Given the description of an element on the screen output the (x, y) to click on. 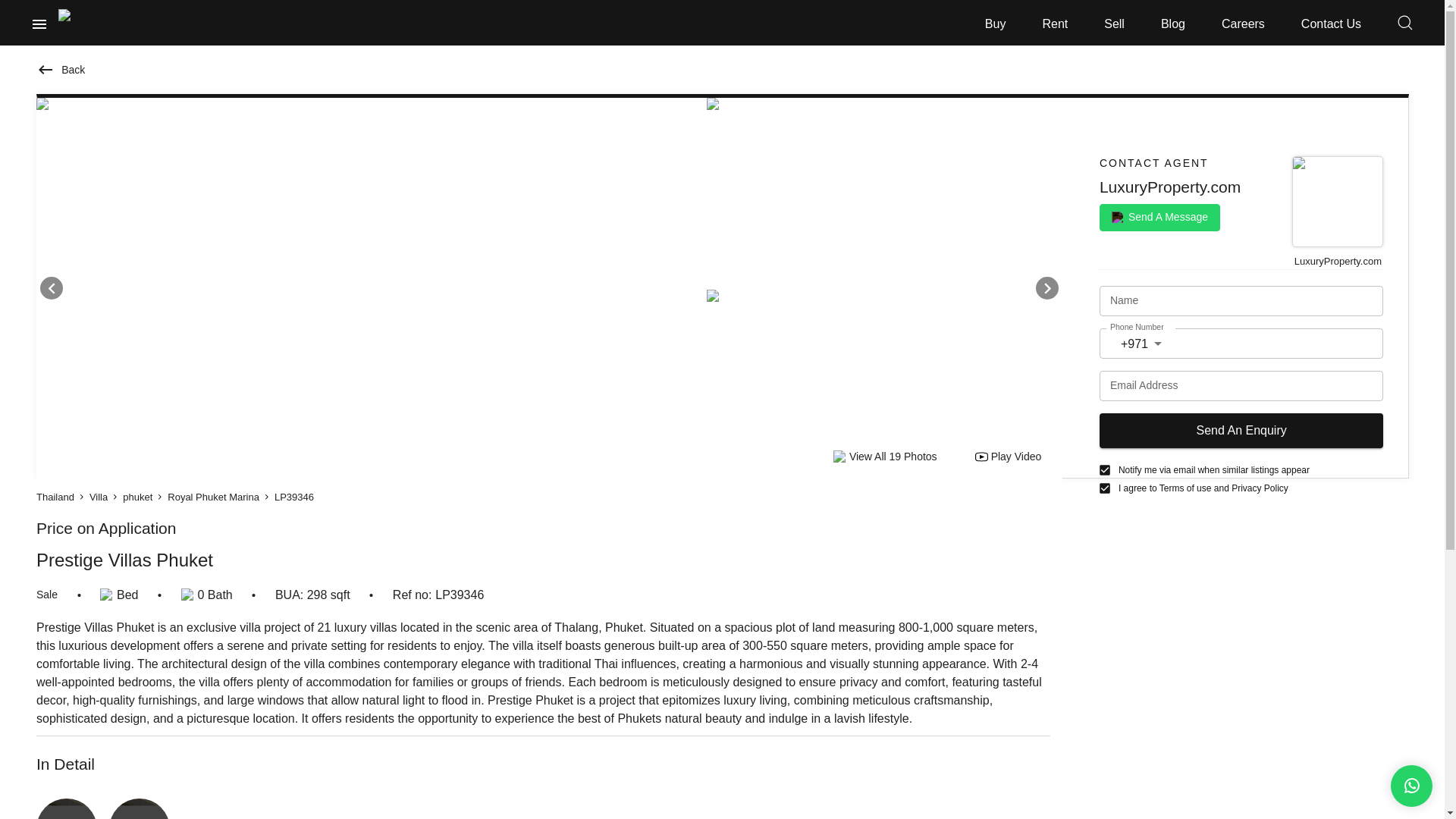
Careers (1243, 24)
Back (60, 69)
Sell (1113, 24)
Contact Us (1331, 24)
Blog (1172, 24)
Buy (995, 24)
Rent (1054, 24)
